Given the description of an element on the screen output the (x, y) to click on. 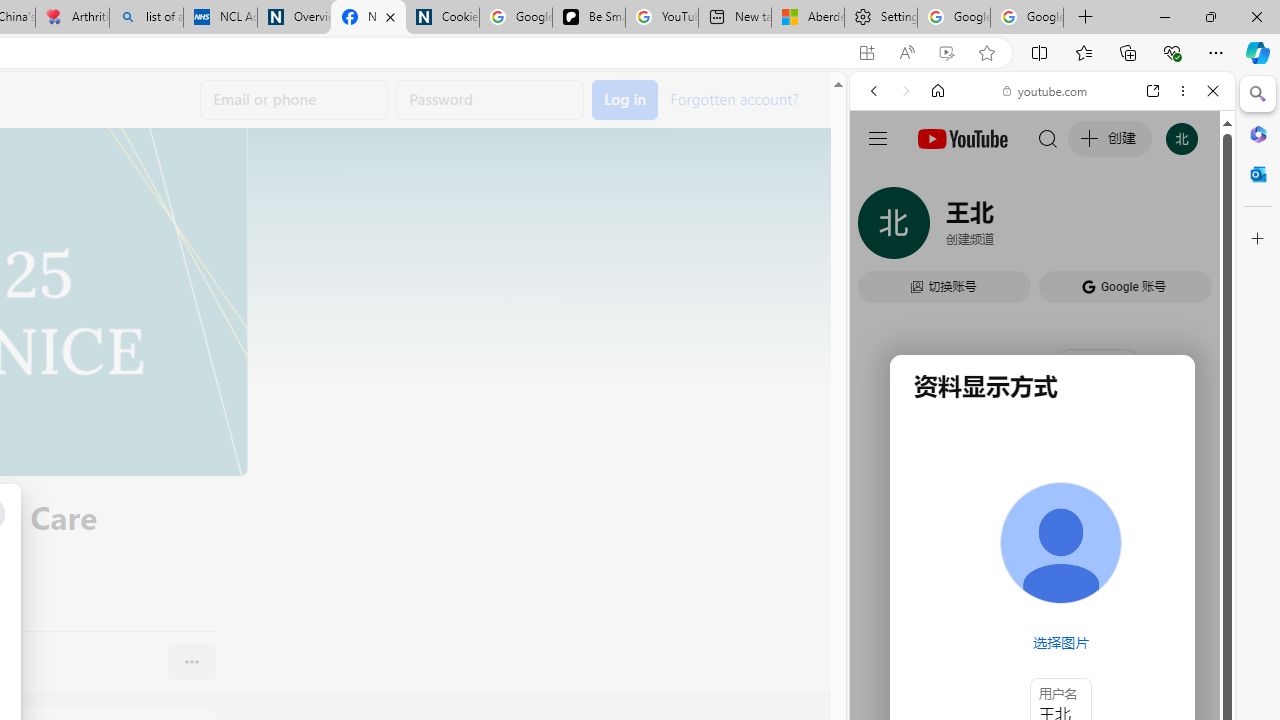
Class: b_serphb (1190, 229)
Google (1042, 494)
Music (1042, 543)
Search Filter, VIDEOS (1006, 228)
VIDEOS (1006, 228)
Arthritis: Ask Health Professionals (71, 17)
Search Filter, Search Tools (1093, 228)
